Given the description of an element on the screen output the (x, y) to click on. 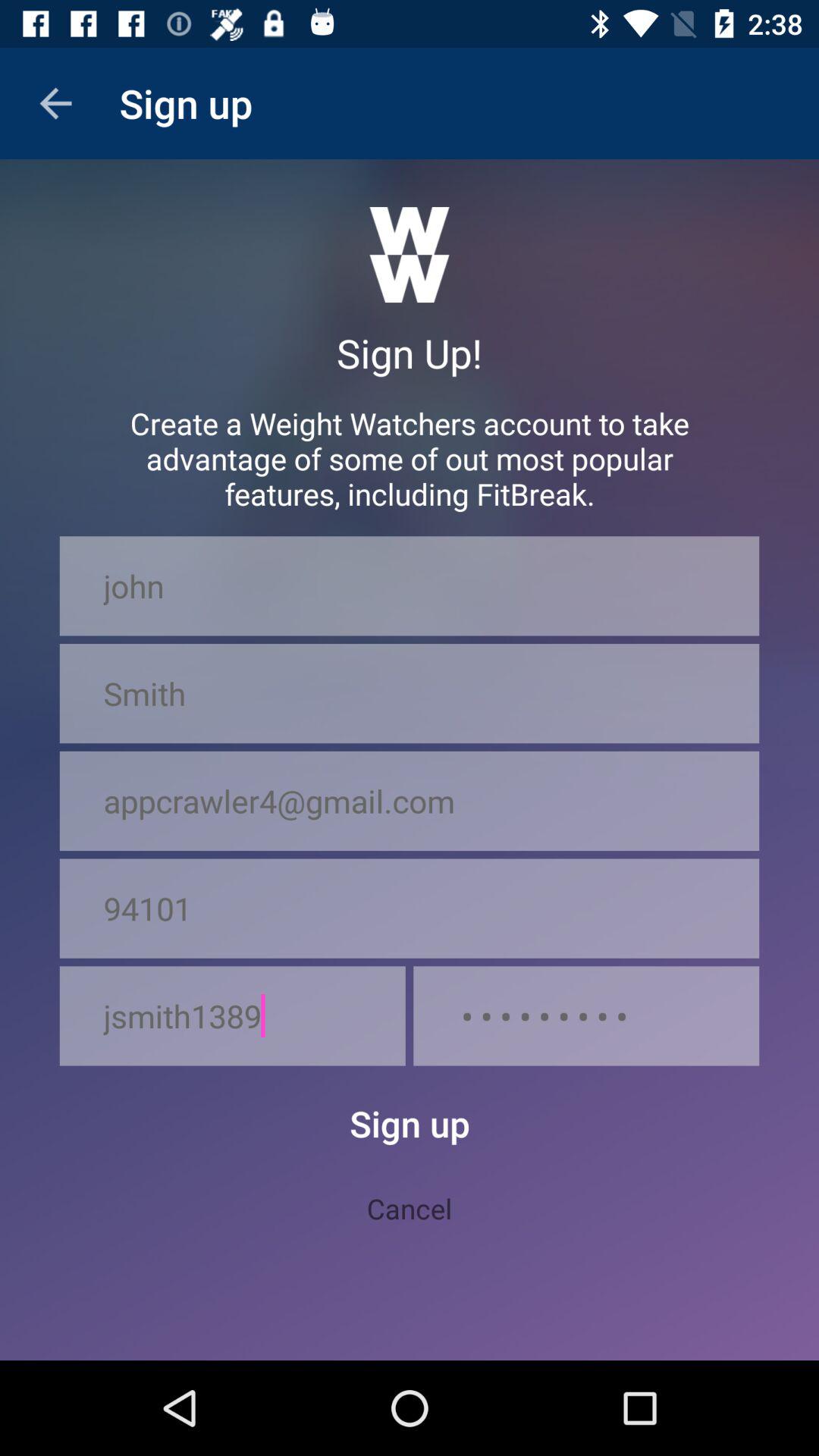
jump to smith icon (409, 693)
